Given the description of an element on the screen output the (x, y) to click on. 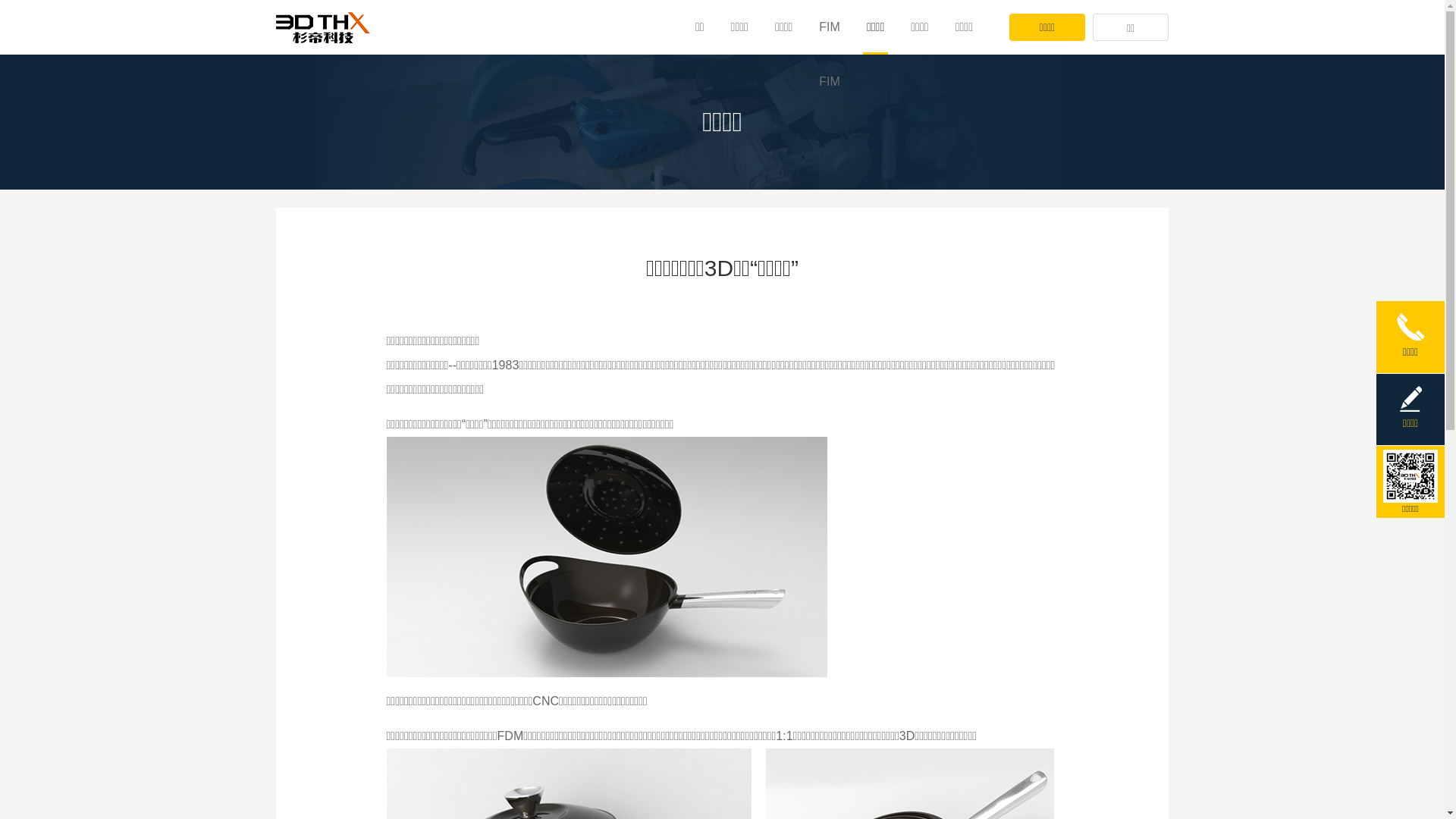
FIM Element type: text (829, 27)
FIM Element type: text (829, 81)
